Given the description of an element on the screen output the (x, y) to click on. 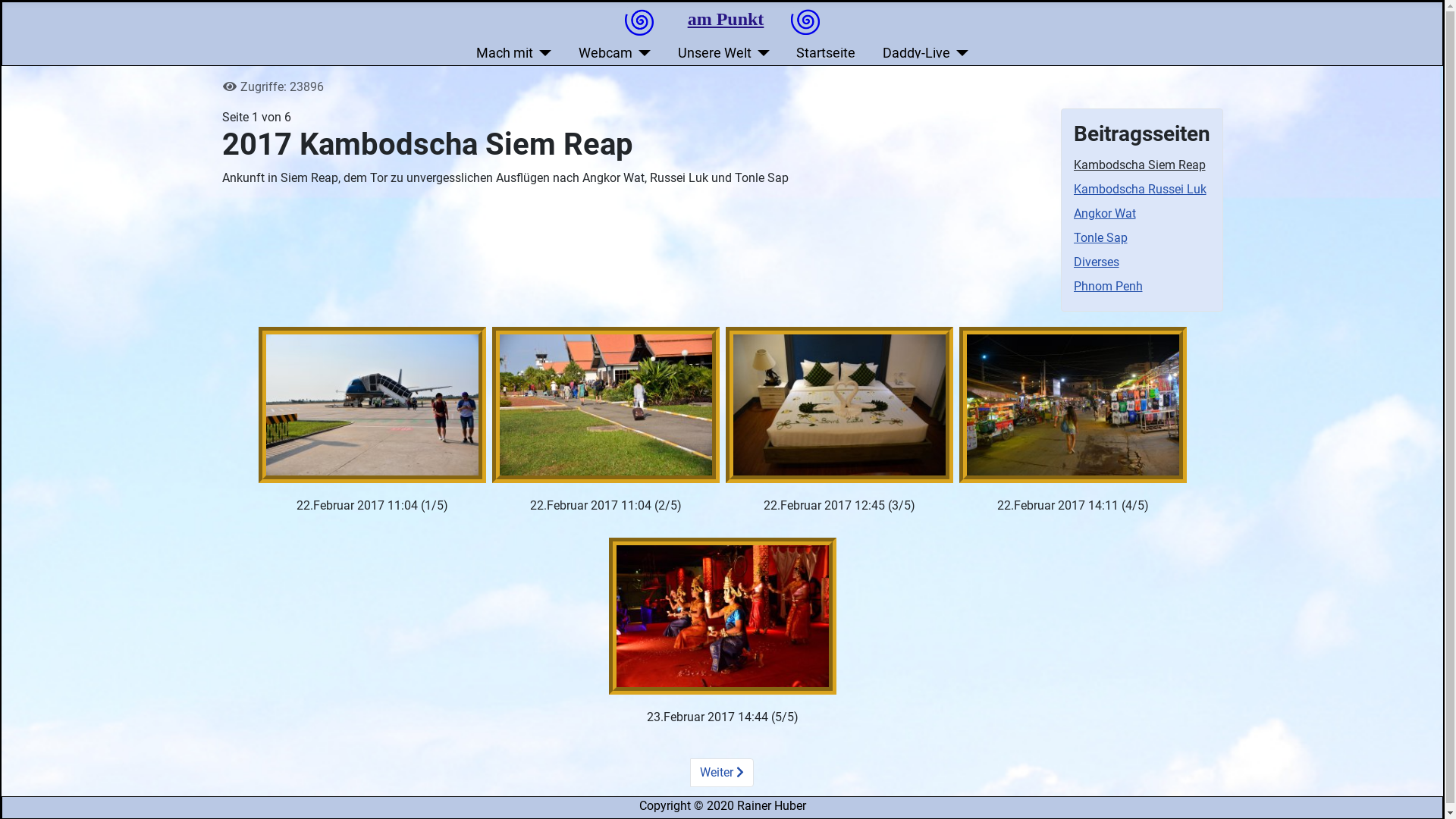
Unsere Welt Element type: text (723, 52)
Kambodscha Siem Reap Element type: text (1139, 164)
Phnom Penh Element type: text (1107, 286)
Diverses Element type: text (1096, 261)
Kambodscha Russei Luk Element type: text (1139, 189)
Mach mit Element type: text (514, 52)
Daddy-Live Element type: text (925, 52)
Angkor Wat Element type: text (1104, 213)
am Punkt Element type: text (725, 18)
Weiter Element type: text (721, 772)
22.Februar 2017  11:04    ?, Siem Reap, Cambodia| (2/5)<br/> Element type: hover (604, 404)
Tonle Sap Element type: text (1100, 237)
Webcam Element type: text (614, 52)
22.Februar 2017  11:04    ?, Siem Reap, Cambodia| (1/5)<br/> Element type: hover (371, 404)
Startseite Element type: text (825, 52)
